Given the description of an element on the screen output the (x, y) to click on. 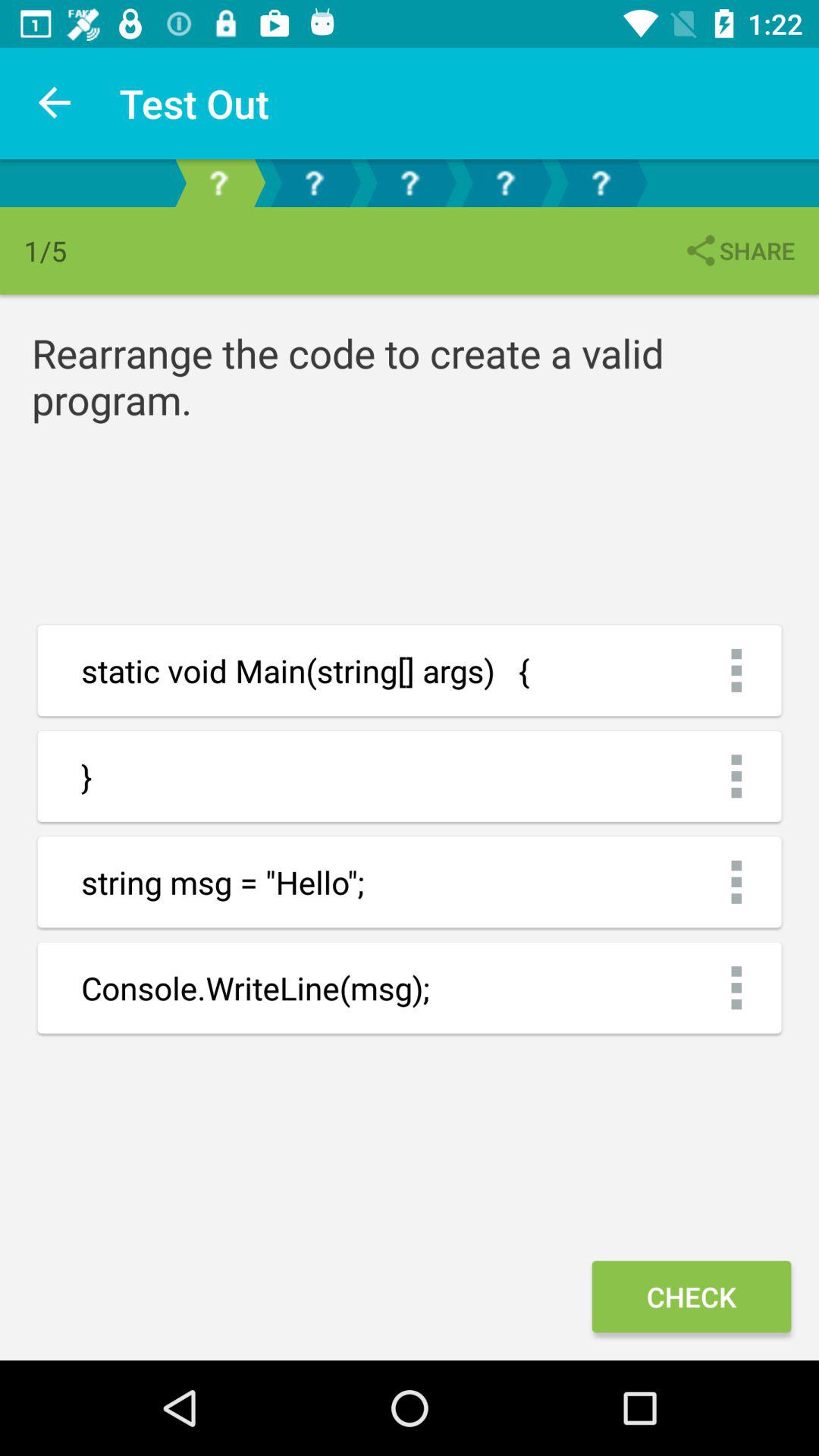
go back (600, 183)
